Given the description of an element on the screen output the (x, y) to click on. 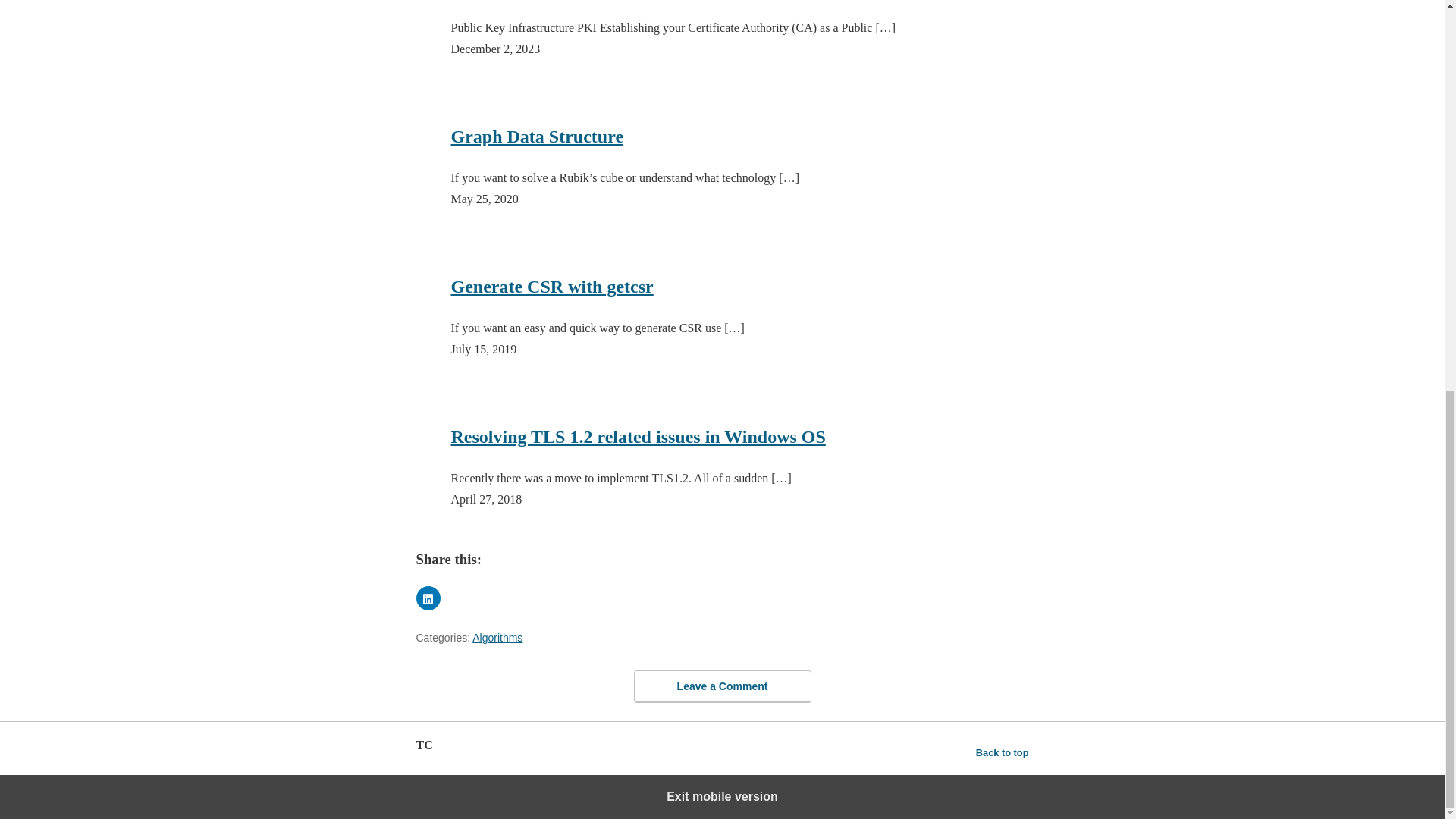
Click to share on LinkedIn (426, 598)
Algorithms (496, 637)
Graph Data Structure (536, 136)
Back to top (1002, 752)
Resolving TLS 1.2 related issues in Windows OS (637, 436)
Generate CSR with getcsr (550, 286)
Leave a Comment (721, 686)
